Given the description of an element on the screen output the (x, y) to click on. 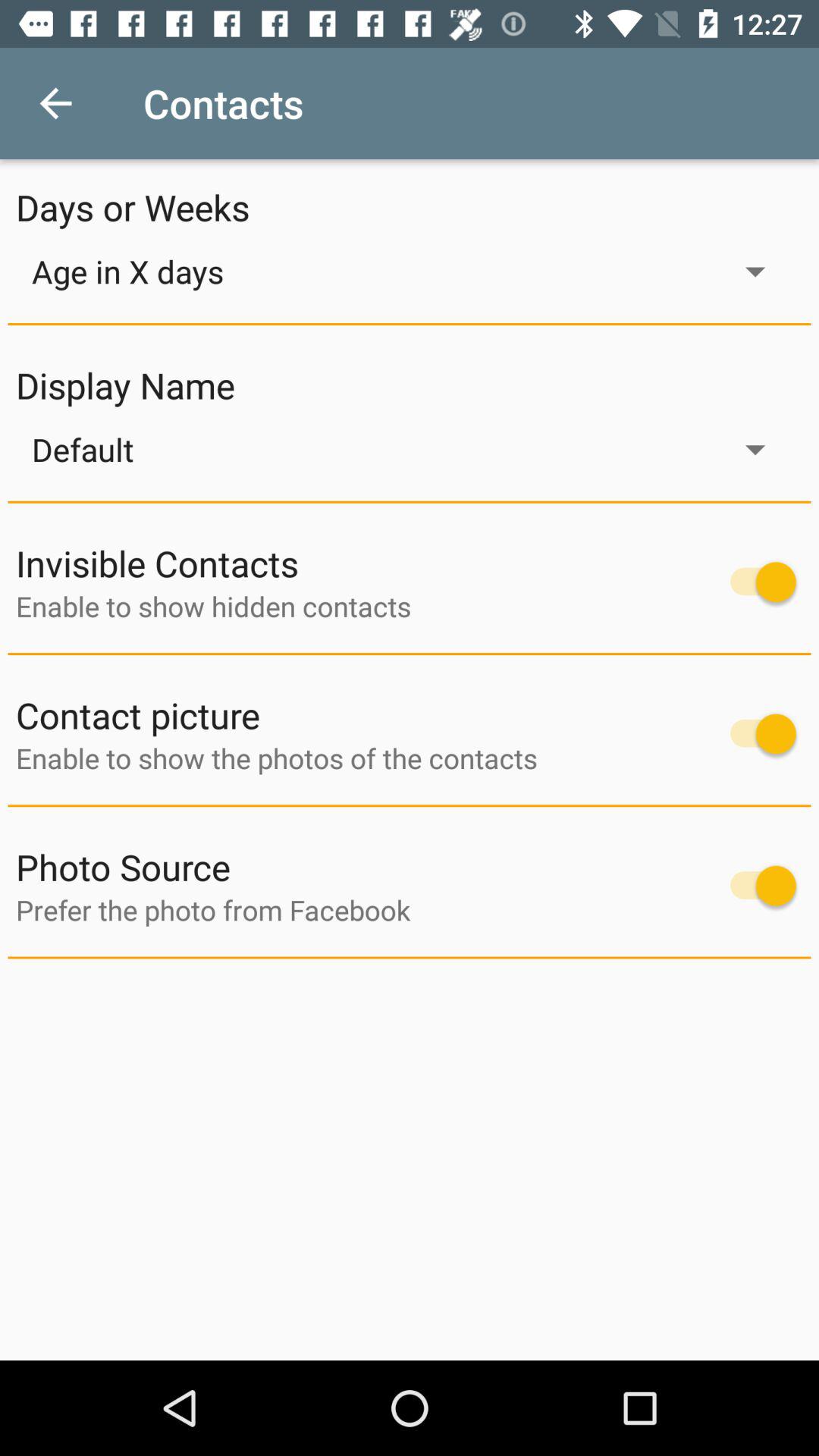
toggle invisible contact option (755, 582)
